Given the description of an element on the screen output the (x, y) to click on. 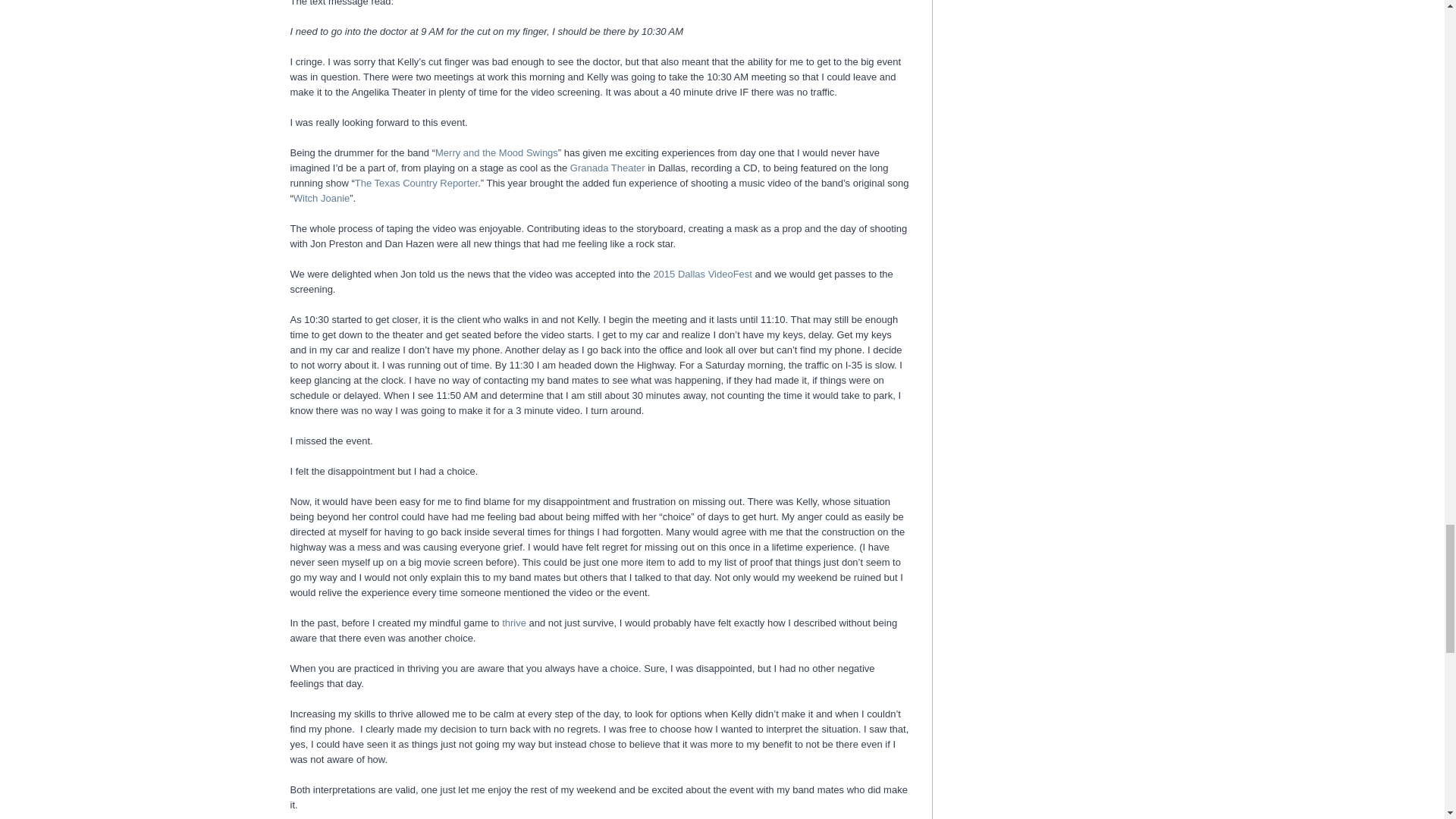
Witch Joanie (321, 197)
2015 Dallas VideoFest (702, 274)
Granada Theater (607, 167)
The Texas Country Reporter (416, 183)
Merry and the Mood Swings (496, 152)
